Given the description of an element on the screen output the (x, y) to click on. 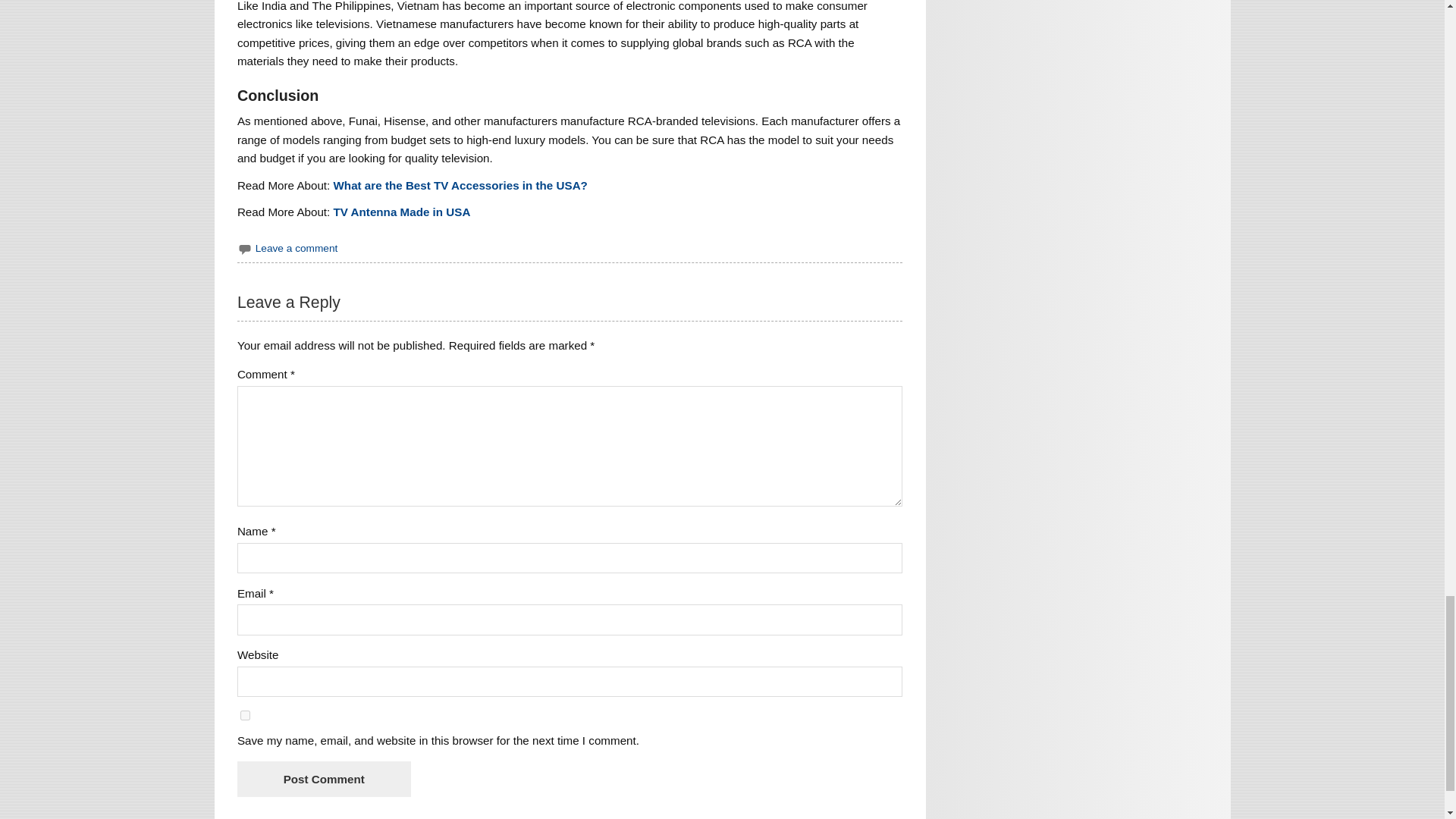
yes (245, 715)
Post Comment (323, 778)
Leave a comment (296, 247)
Post Comment (323, 778)
TV Antenna Made in USA (401, 211)
What are the Best TV Accessories in the USA? (460, 185)
